Given the description of an element on the screen output the (x, y) to click on. 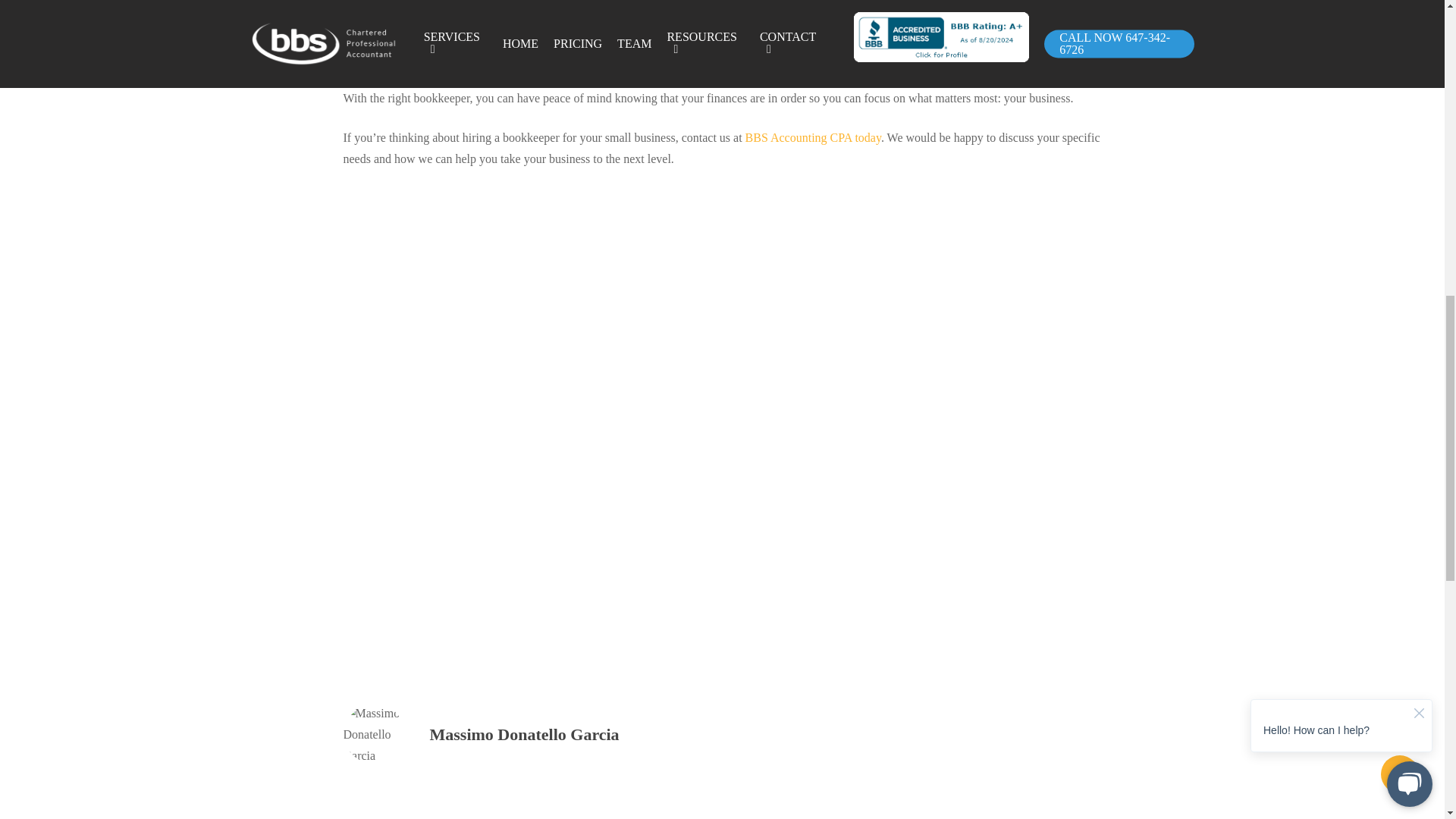
Massimo Donatello Garcia (523, 733)
BBS Accounting CPA today (811, 137)
